Given the description of an element on the screen output the (x, y) to click on. 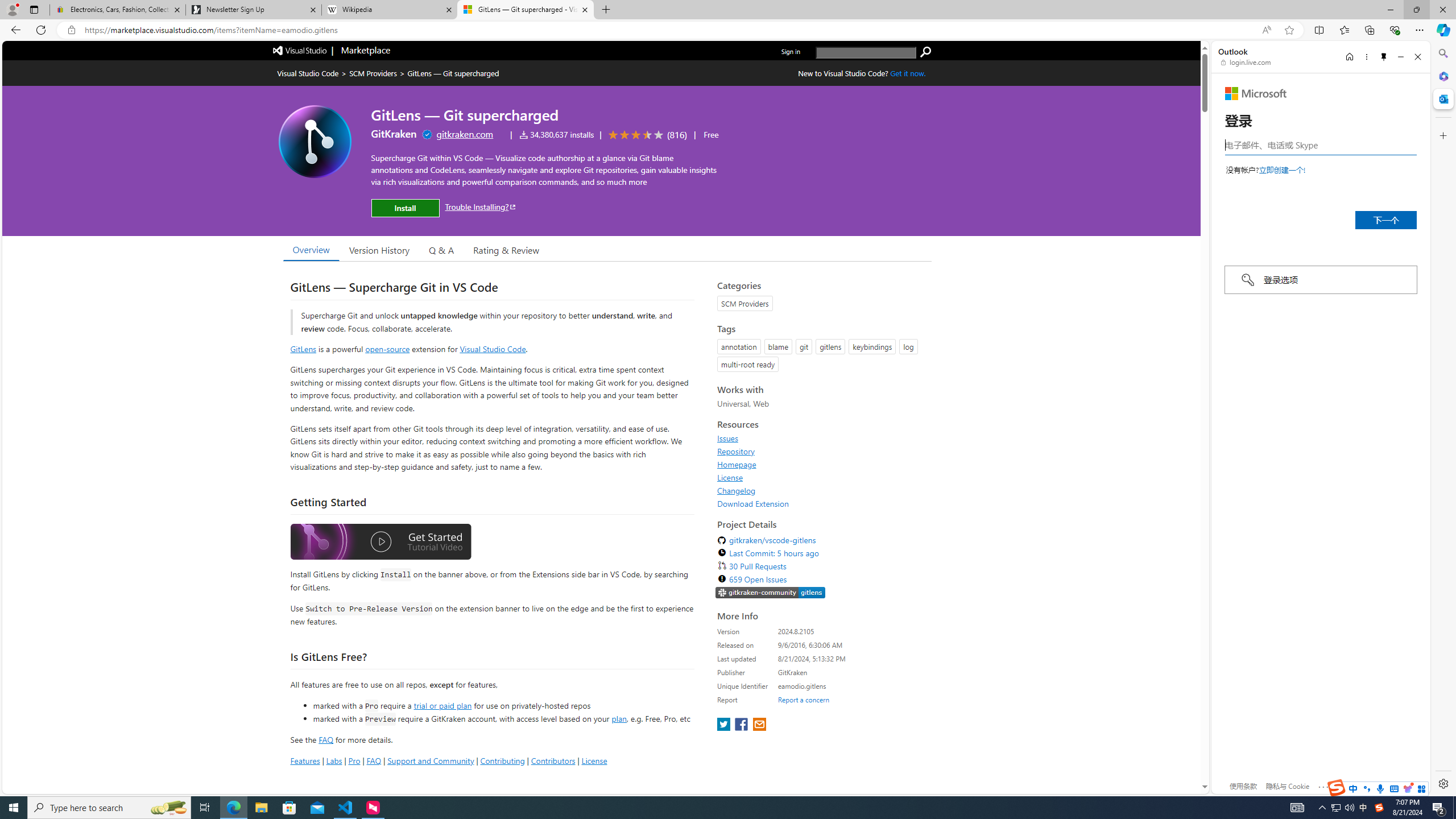
share extension on email (759, 725)
Address and search bar (669, 29)
Side bar (1443, 418)
Microsoft (1255, 93)
Search (1442, 53)
Get Visual Studio Code Now (907, 72)
Repository (820, 451)
License (820, 477)
Watch the GitLens Getting Started video (380, 543)
Electronics, Cars, Fashion, Collectibles & More | eBay (117, 9)
